Given the description of an element on the screen output the (x, y) to click on. 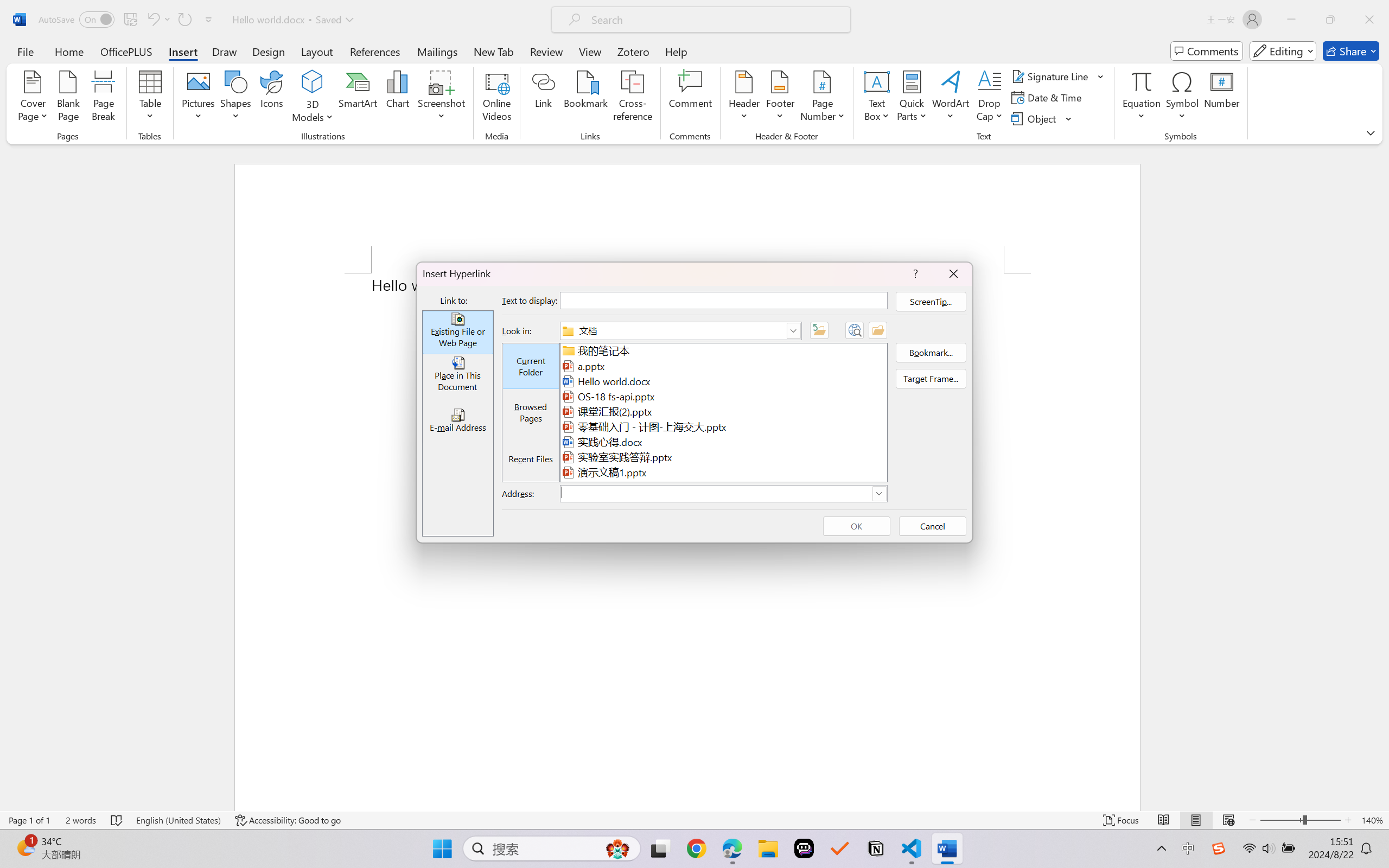
Minimize (1291, 19)
Design (268, 51)
Mailings (437, 51)
Target Frame... (930, 378)
